Given the description of an element on the screen output the (x, y) to click on. 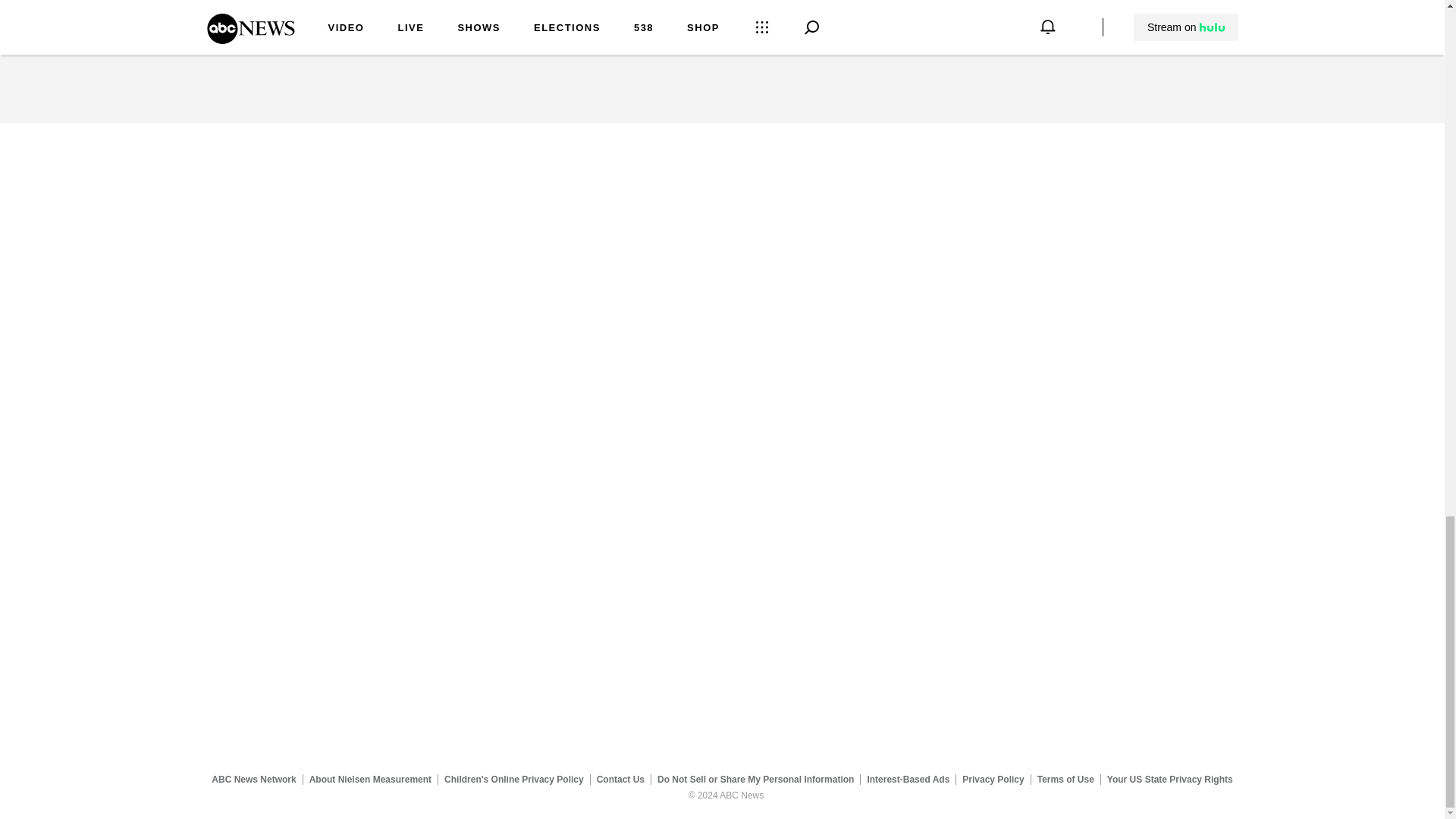
Privacy Policy (993, 778)
Contact Us (620, 778)
About Nielsen Measurement (370, 778)
Your US State Privacy Rights (1169, 778)
Children's Online Privacy Policy (514, 778)
ABC News Network (253, 778)
Interest-Based Ads (908, 778)
Do Not Sell or Share My Personal Information (755, 778)
Terms of Use (1065, 778)
